Given the description of an element on the screen output the (x, y) to click on. 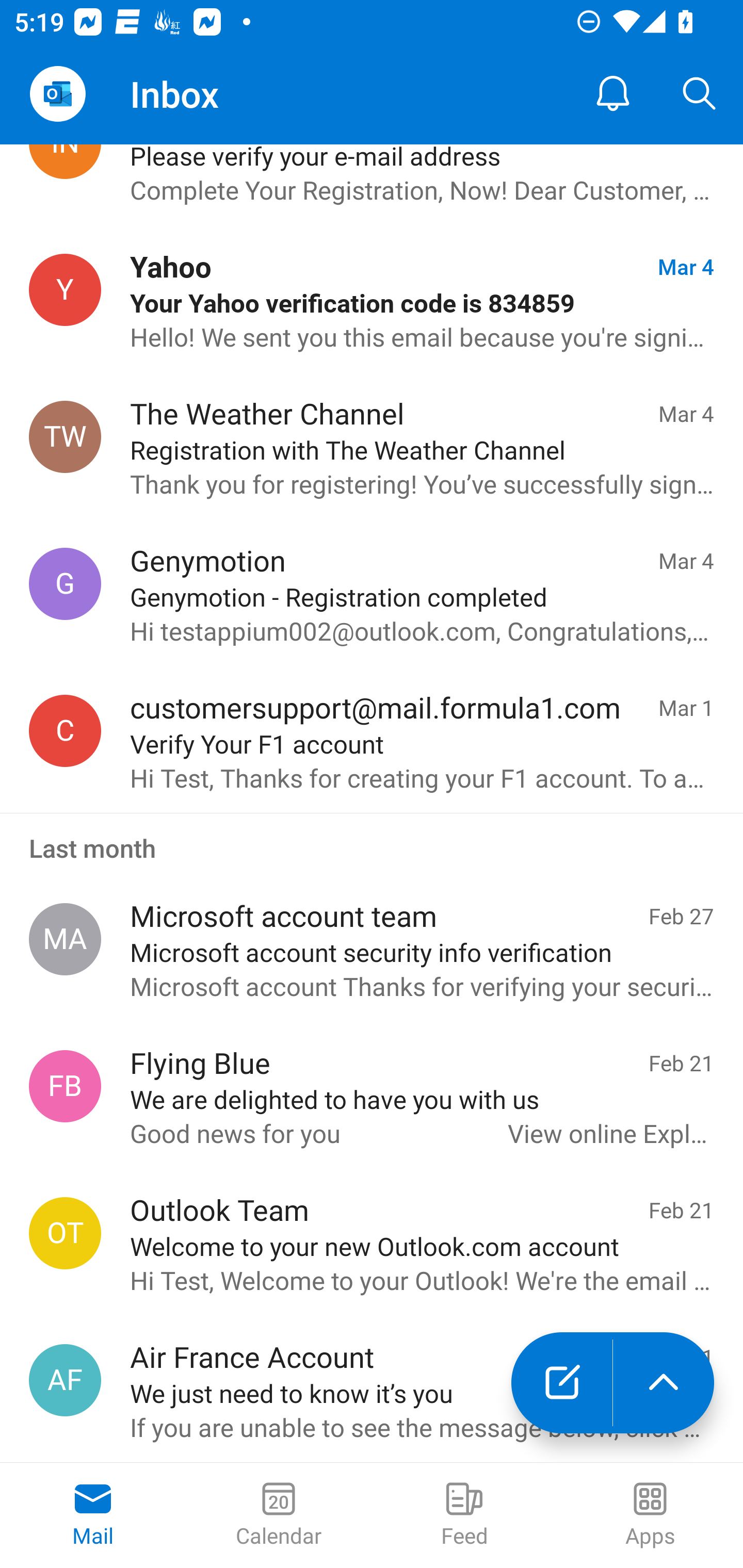
Notification Center (612, 93)
Search, ,  (699, 93)
Open Navigation Drawer (57, 94)
Yahoo, no-reply@cc.yahoo-inc.com (64, 290)
The Weather Channel, noreply@weather.com (64, 437)
Genymotion, genymotion-activation@genymobile.com (64, 583)
Flying Blue, do_not_reply@info-flyingblue.com (64, 1086)
Outlook Team, no-reply@microsoft.com (64, 1233)
New mail (561, 1382)
launch the extended action menu (663, 1382)
Air France Account, account@infos-airfrance.com (64, 1379)
Calendar (278, 1515)
Feed (464, 1515)
Apps (650, 1515)
